Given the description of an element on the screen output the (x, y) to click on. 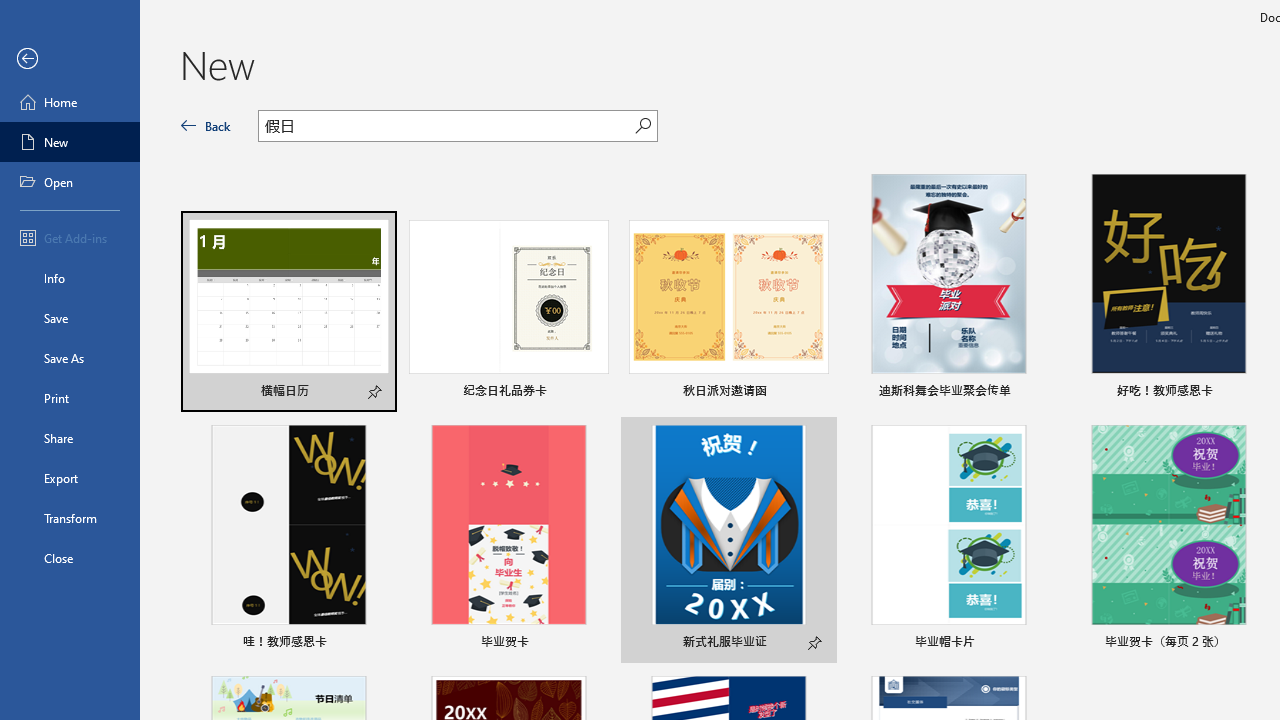
Back (205, 125)
Back (69, 59)
Save As (69, 357)
Get Add-ins (69, 237)
Transform (69, 517)
Pin to list (1255, 643)
New (69, 141)
